Given the description of an element on the screen output the (x, y) to click on. 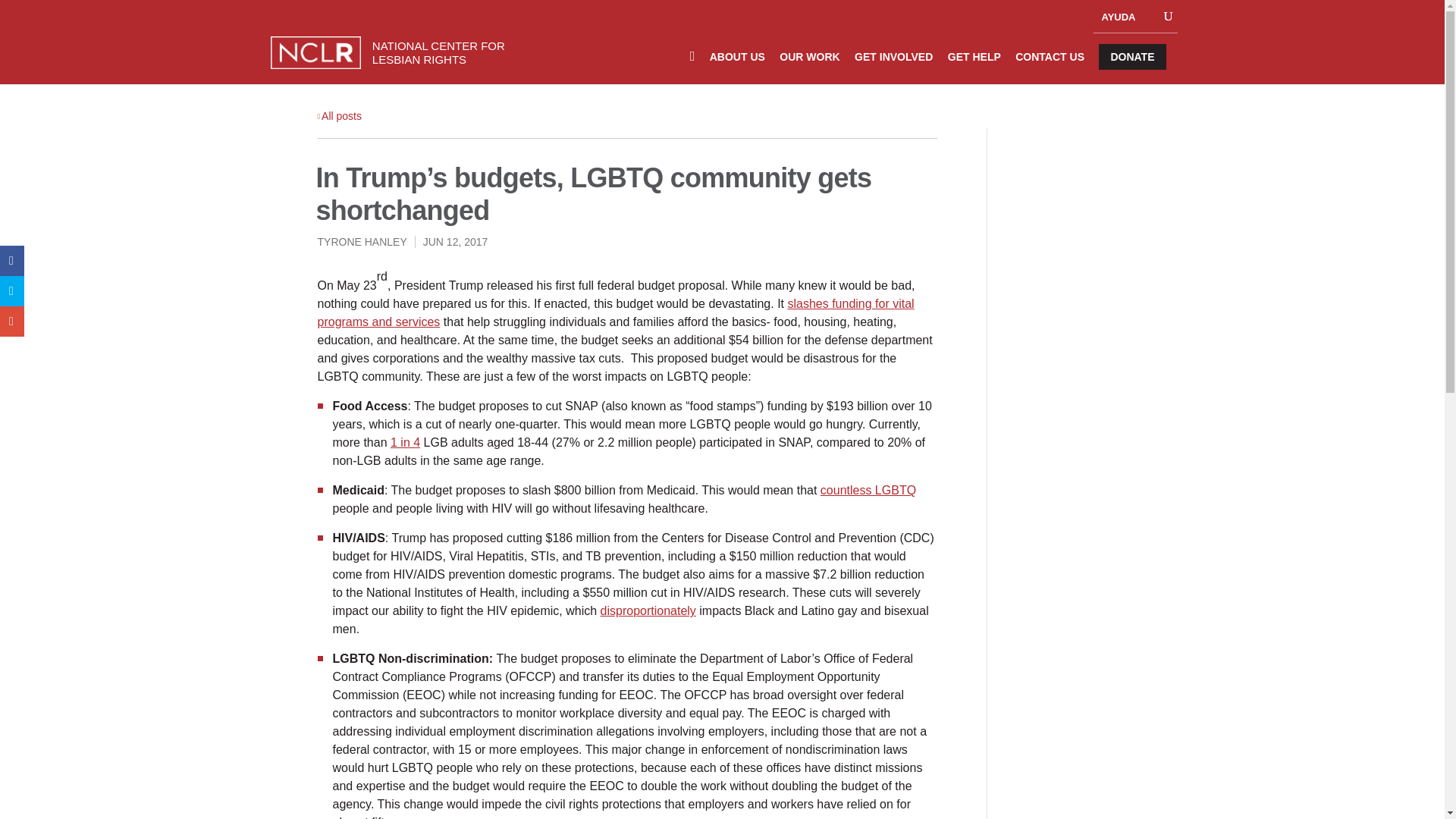
OUR WORK (809, 65)
GET INVOLVED (893, 65)
Posts by Tyrone Hanley (361, 241)
